Given the description of an element on the screen output the (x, y) to click on. 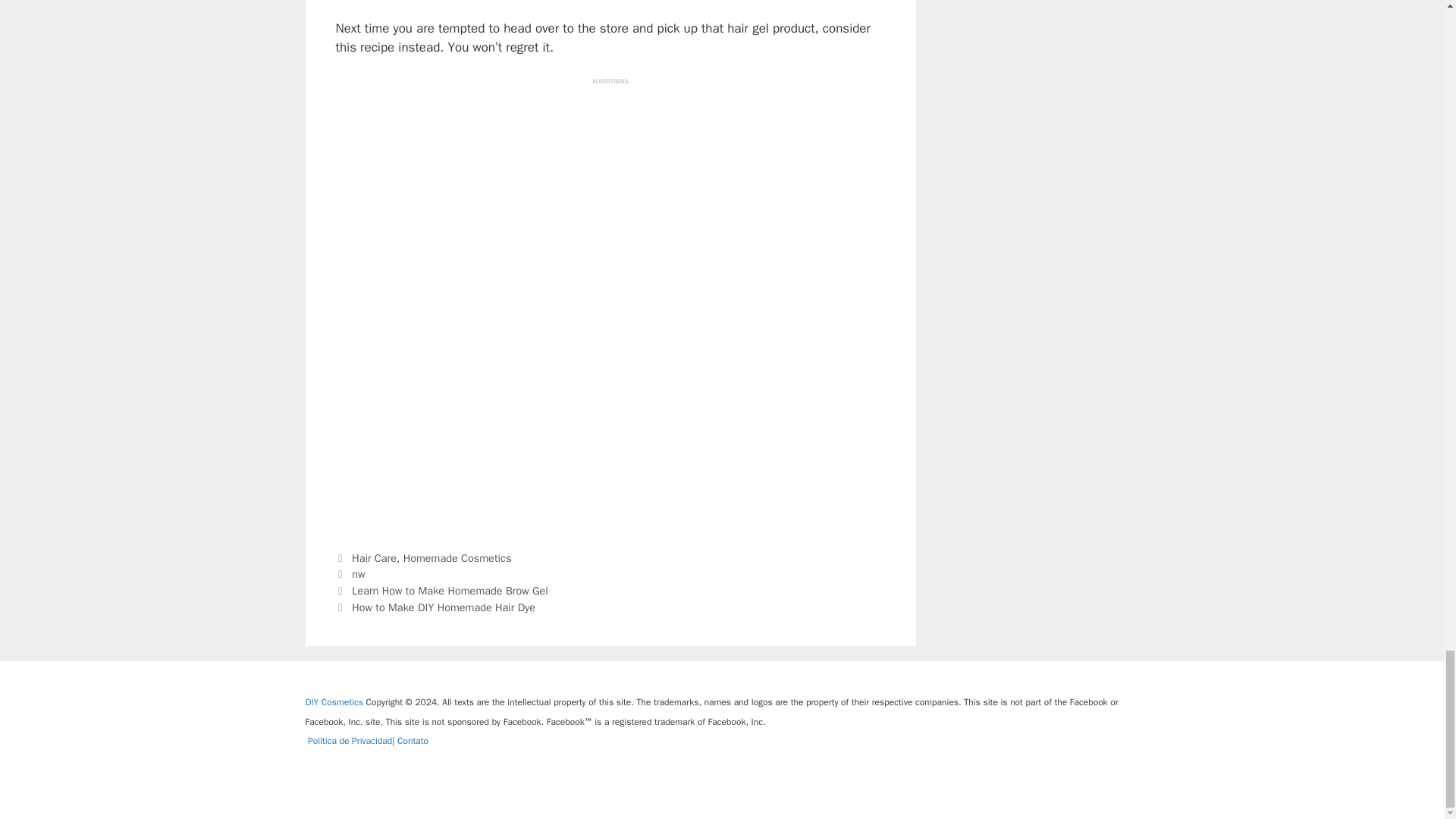
DIY Cosmetics (333, 702)
How to Make DIY Homemade Hair Dye (443, 607)
Learn How to Make Homemade Brow Gel (450, 590)
Hair Care (374, 558)
Homemade Cosmetics (457, 558)
nw (358, 573)
Contato (412, 740)
